Given the description of an element on the screen output the (x, y) to click on. 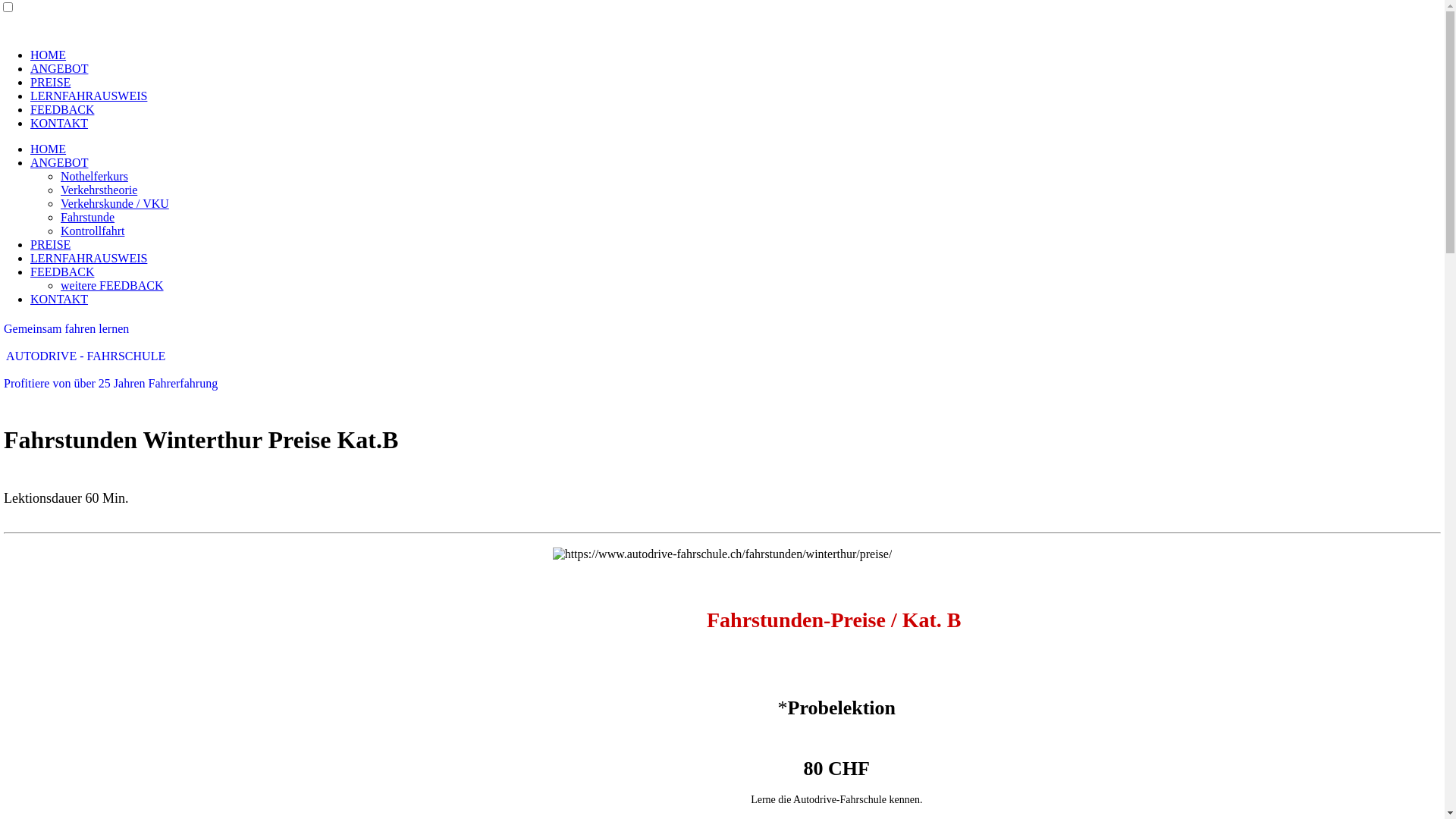
Fahrstunde Element type: text (87, 216)
LERNFAHRAUSWEIS Element type: text (88, 95)
PREISE Element type: text (50, 244)
FEEDBACK Element type: text (62, 109)
KONTAKT Element type: text (58, 122)
HOME Element type: text (47, 54)
LERNFAHRAUSWEIS Element type: text (88, 257)
ANGEBOT Element type: text (58, 68)
FEEDBACK Element type: text (62, 271)
weitere FEEDBACK Element type: text (111, 285)
PREISE Element type: text (50, 81)
Kontrollfahrt Element type: text (92, 230)
Nothelferkurs Element type: text (94, 175)
KONTAKT Element type: text (58, 298)
Verkehrstheorie Element type: text (98, 189)
HOME Element type: text (47, 148)
Verkehrskunde / VKU Element type: text (114, 203)
ANGEBOT Element type: text (58, 162)
